Given the description of an element on the screen output the (x, y) to click on. 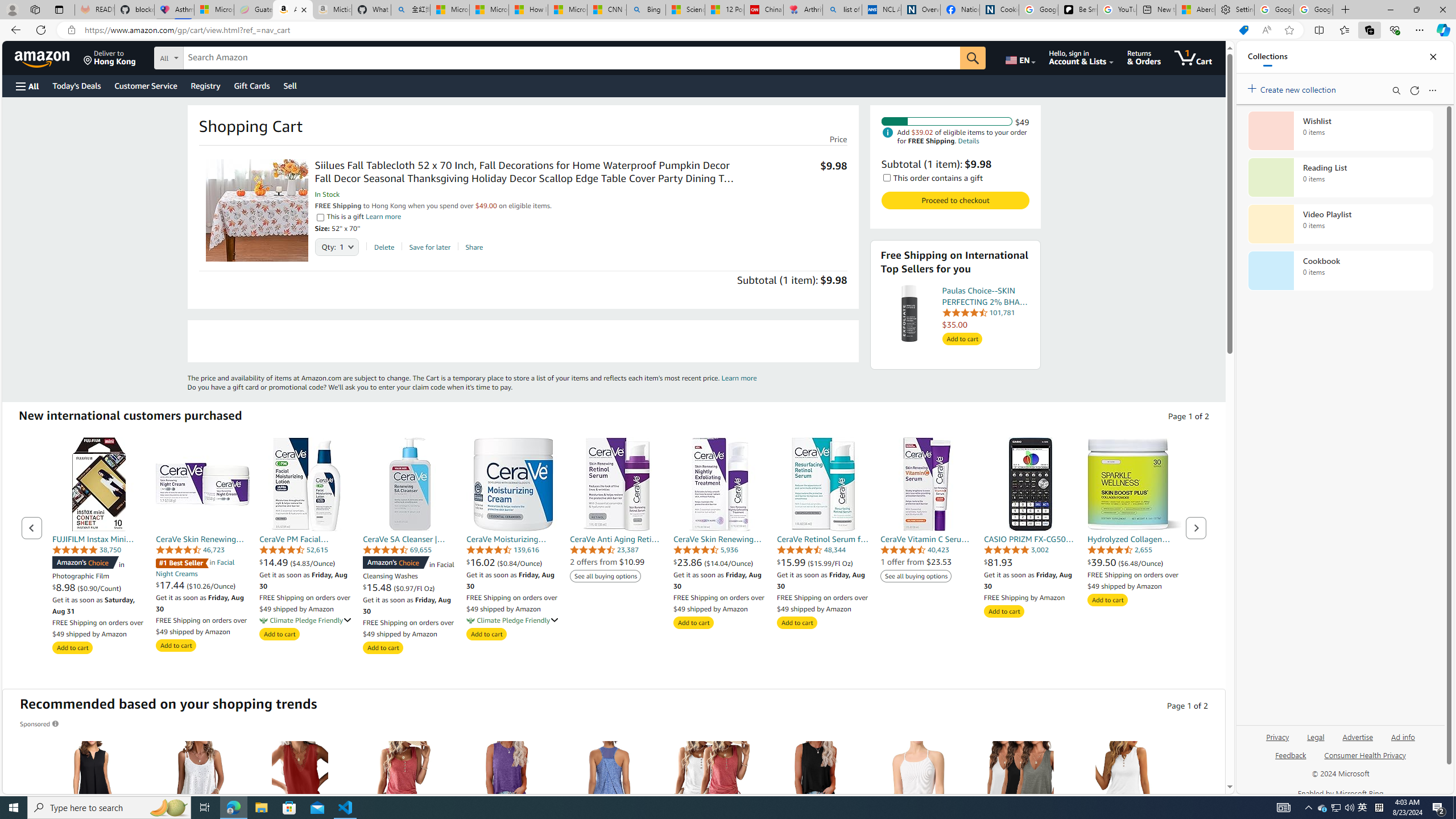
Registry (205, 85)
CASIO PRIZM FX-CG50 Color Graphing Calculator (1030, 484)
Choose a language for shopping. (1019, 57)
$17.44  (171, 585)
($0.84/Ounce) (519, 562)
Advertise (1358, 741)
Video Playlist collection, 0 items (1339, 223)
Shopping in Microsoft Edge (1243, 29)
